Given the description of an element on the screen output the (x, y) to click on. 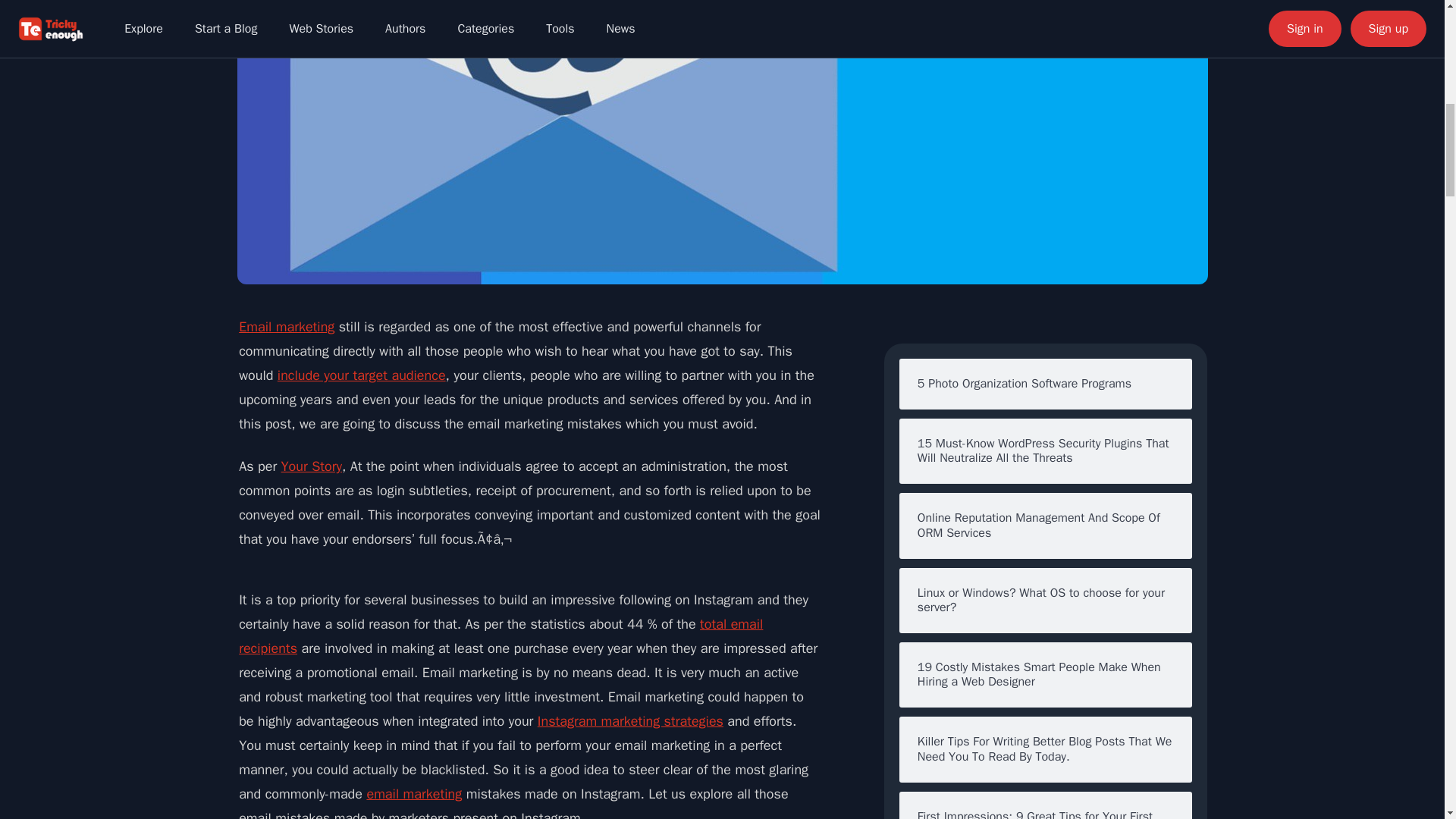
Your Story (311, 466)
total email recipients (500, 635)
email marketing (413, 793)
Instagram marketing strategies (630, 720)
Email marketing (286, 326)
include your target audience (361, 375)
